Given the description of an element on the screen output the (x, y) to click on. 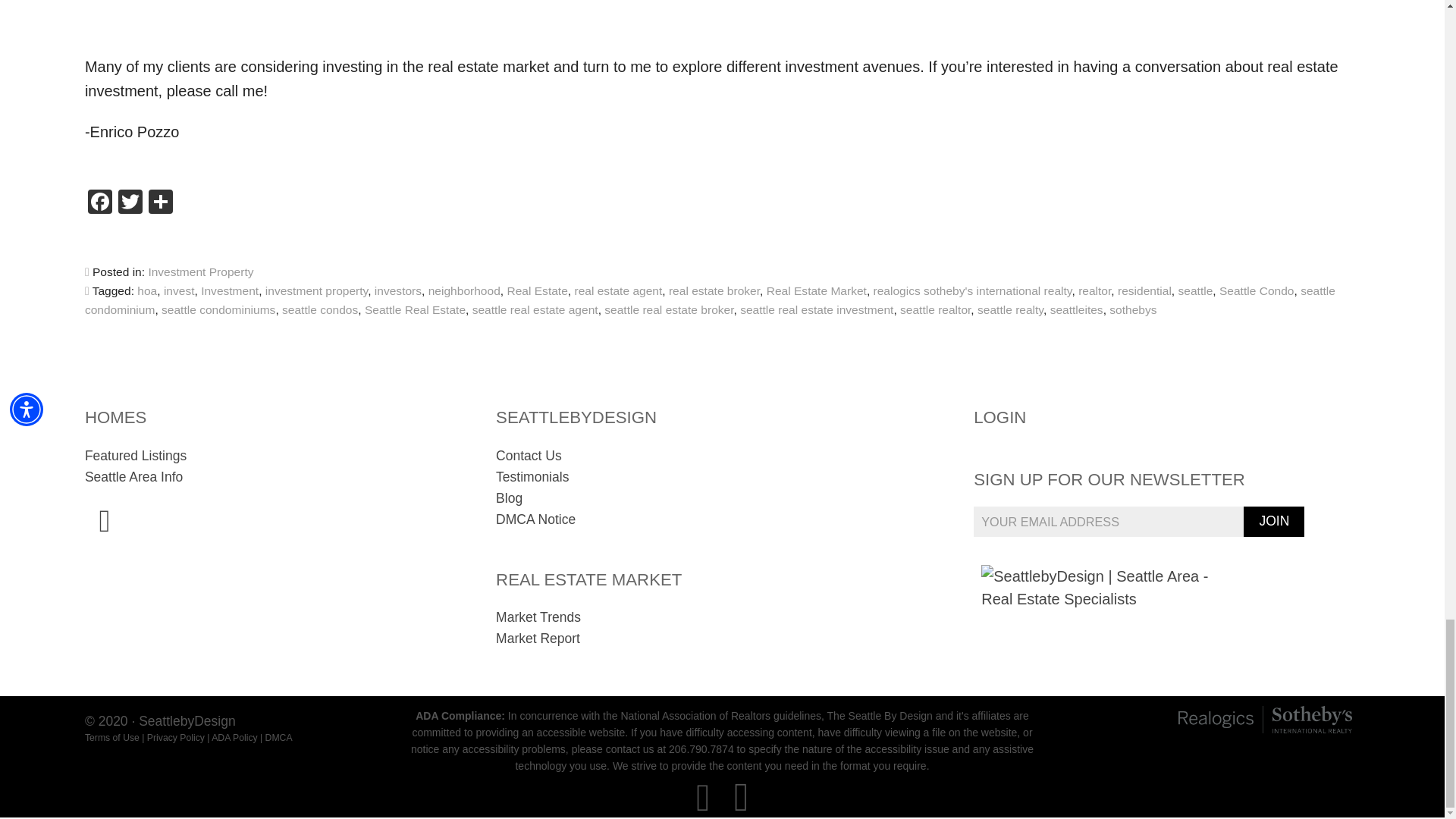
JOIN (1273, 521)
